Given the description of an element on the screen output the (x, y) to click on. 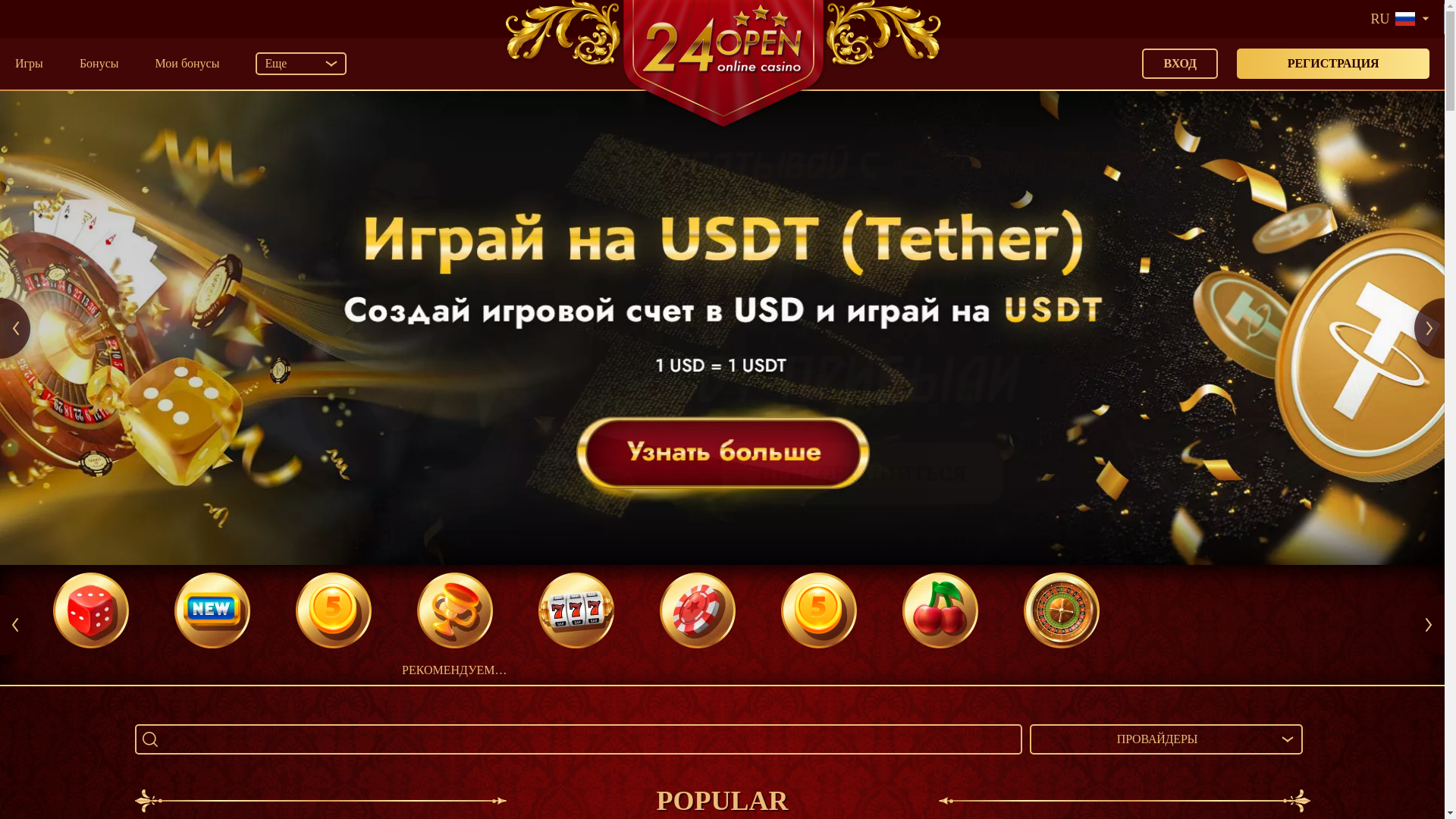
RU Element type: text (1399, 18)
